Given the description of an element on the screen output the (x, y) to click on. 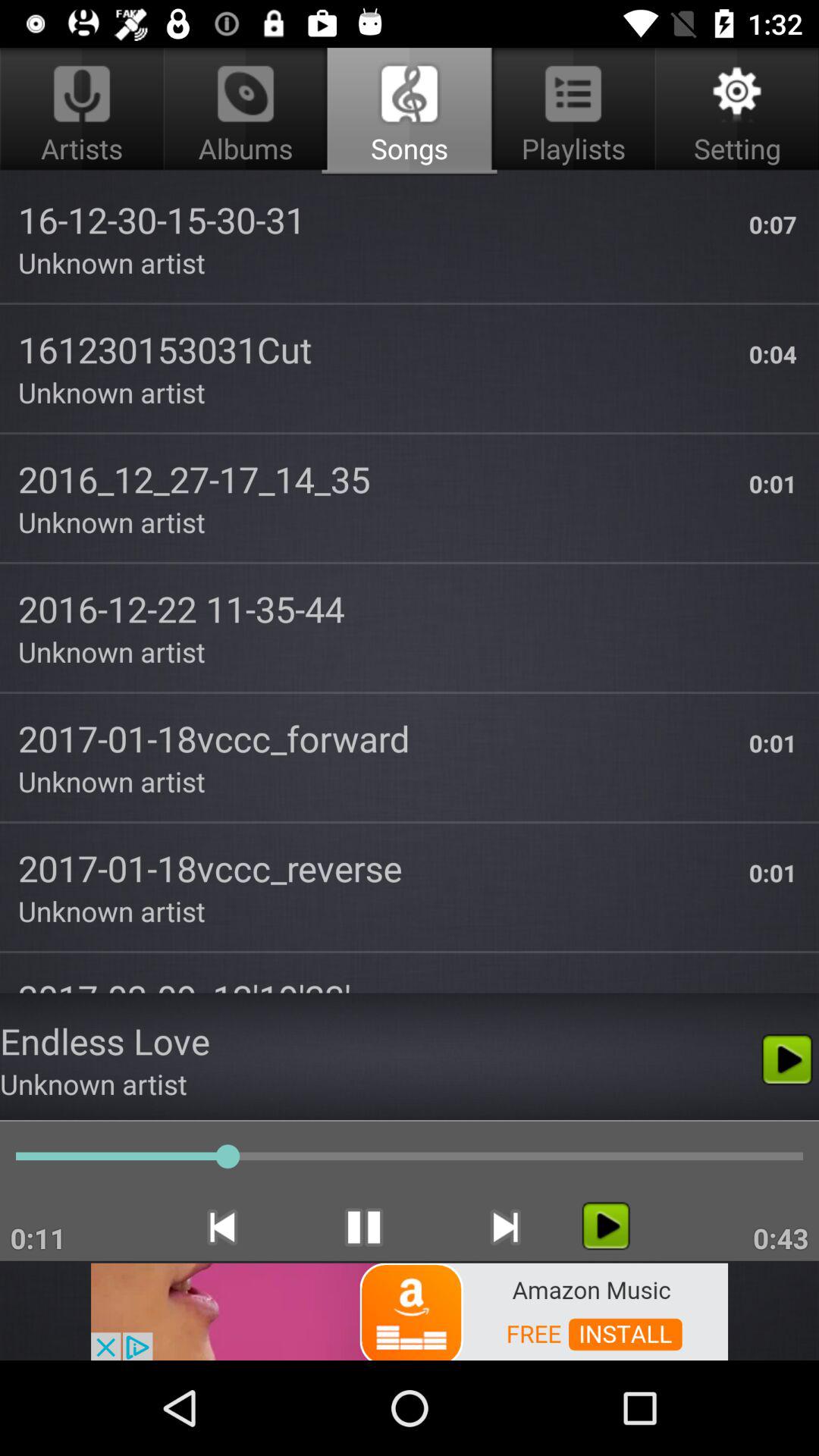
advertise banner (409, 1310)
